Given the description of an element on the screen output the (x, y) to click on. 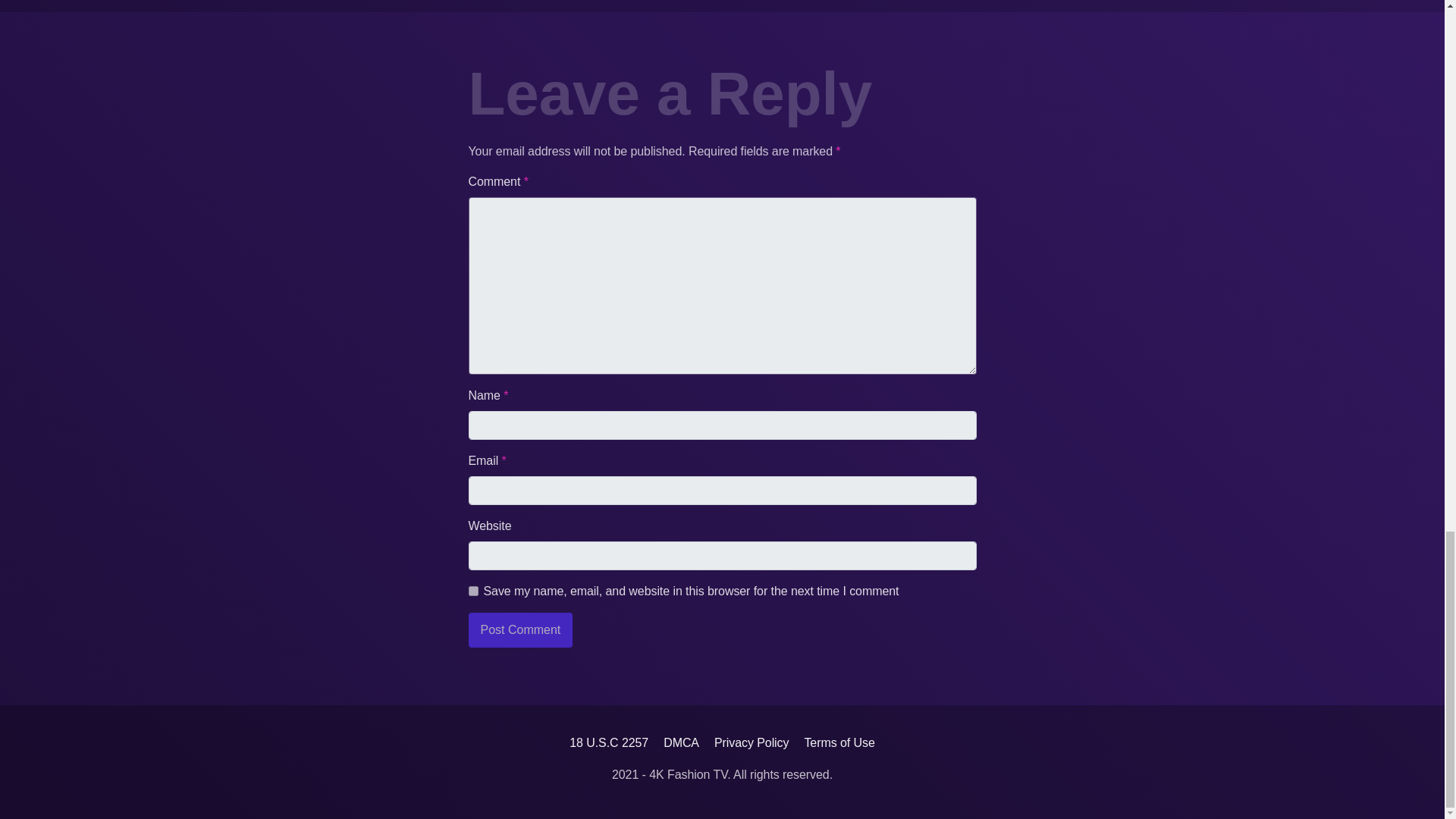
Post Comment (520, 629)
yes (473, 591)
